Given the description of an element on the screen output the (x, y) to click on. 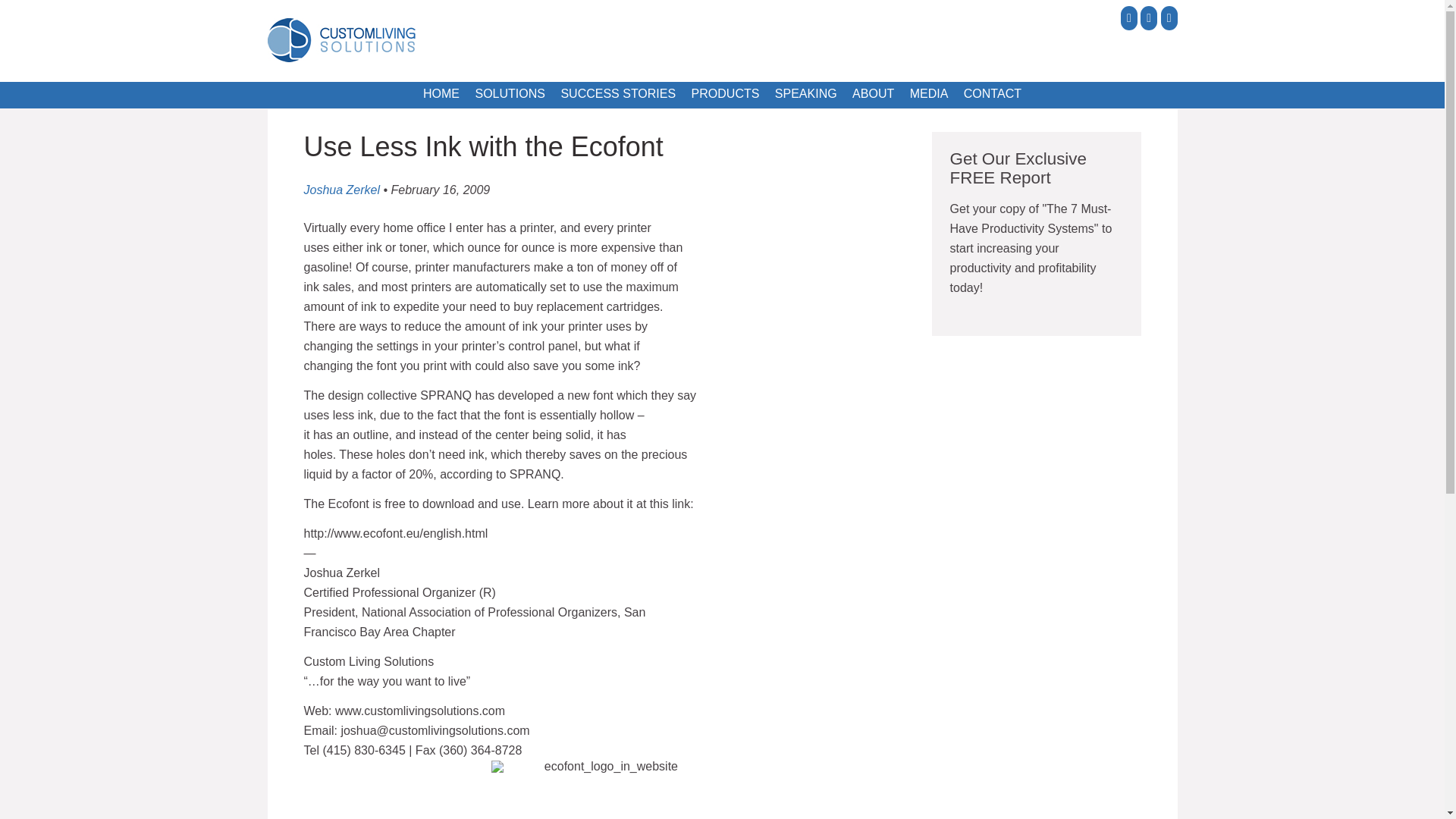
SPEAKING (805, 93)
Joshua Zerkel (341, 189)
PRODUCTS (725, 93)
SOLUTIONS (509, 93)
SUCCESS STORIES (617, 93)
MEDIA (929, 93)
ABOUT (872, 93)
HOME (440, 93)
CONTACT (992, 93)
